Given the description of an element on the screen output the (x, y) to click on. 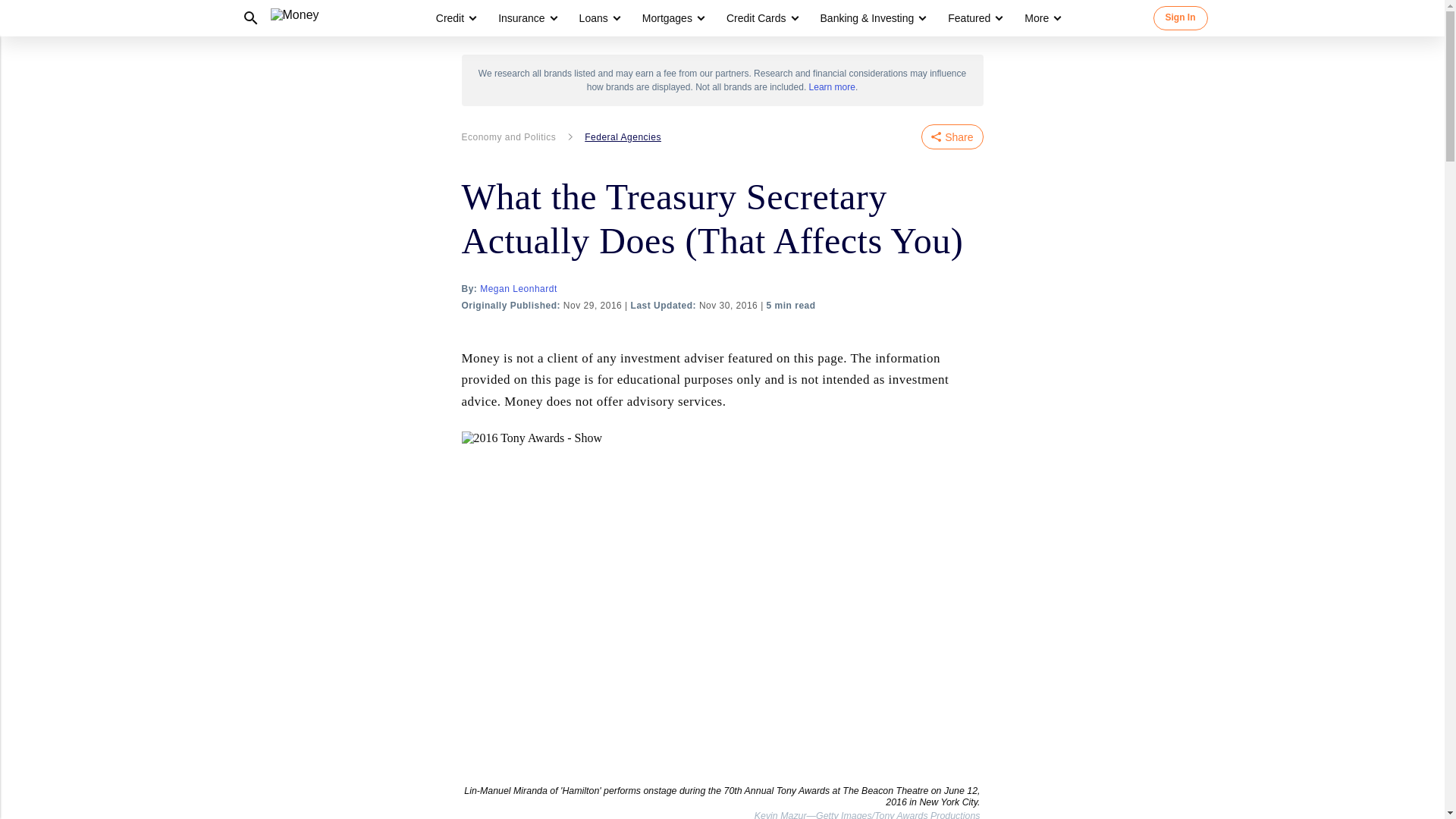
Loans (598, 18)
Insurance (520, 18)
Credit Cards (756, 18)
Loans (593, 18)
Credit (455, 18)
Credit (449, 18)
Insurance (526, 18)
Credit Cards (761, 18)
Mortgages (667, 18)
Mortgages (672, 18)
